Given the description of an element on the screen output the (x, y) to click on. 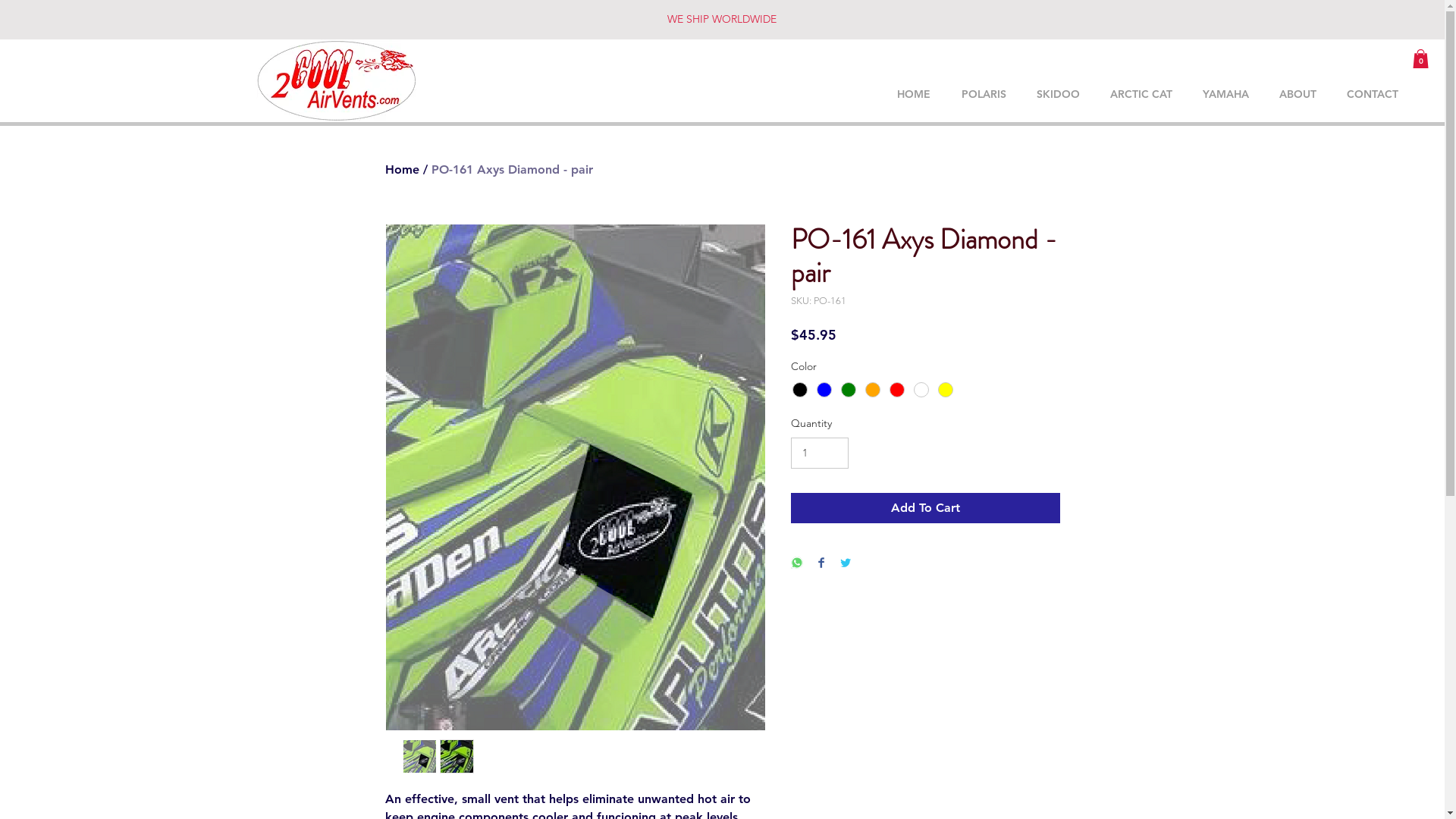
ARCTIC CAT Element type: text (1141, 93)
CONTACT Element type: text (1372, 93)
PO-161 Axys Diamond - pair Element type: text (511, 169)
Facebook Like Element type: hover (1080, 27)
WE SHIP WORLDWIDE Element type: text (721, 18)
Home Element type: text (402, 169)
POLARIS Element type: text (983, 93)
Add To Cart Element type: text (924, 507)
SKIDOO Element type: text (1058, 93)
HOME Element type: text (913, 93)
YAMAHA Element type: text (1225, 93)
ABOUT Element type: text (1297, 93)
Site Search Element type: hover (1061, 63)
0 Element type: text (1420, 58)
